Given the description of an element on the screen output the (x, y) to click on. 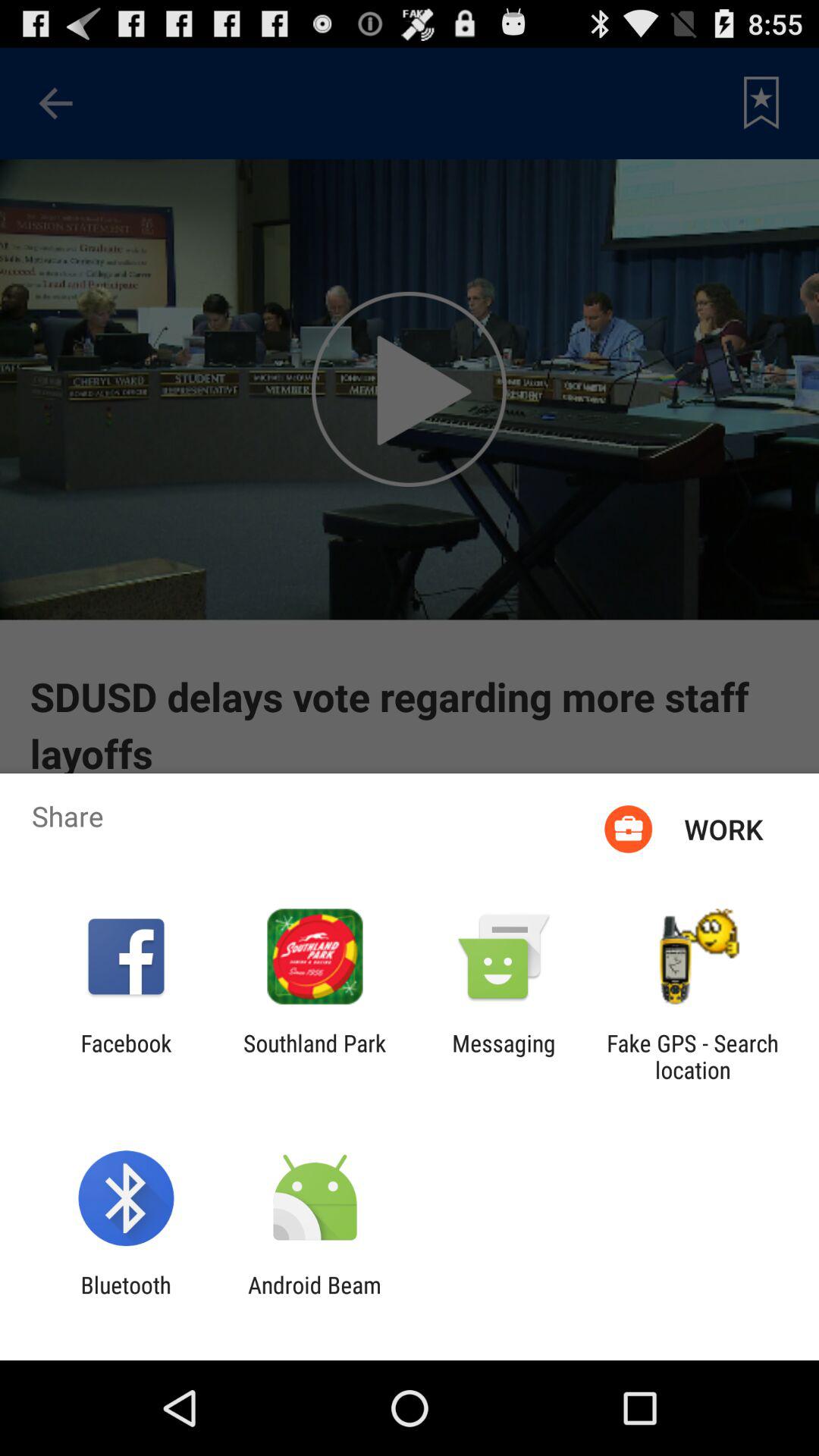
press messaging app (503, 1056)
